Given the description of an element on the screen output the (x, y) to click on. 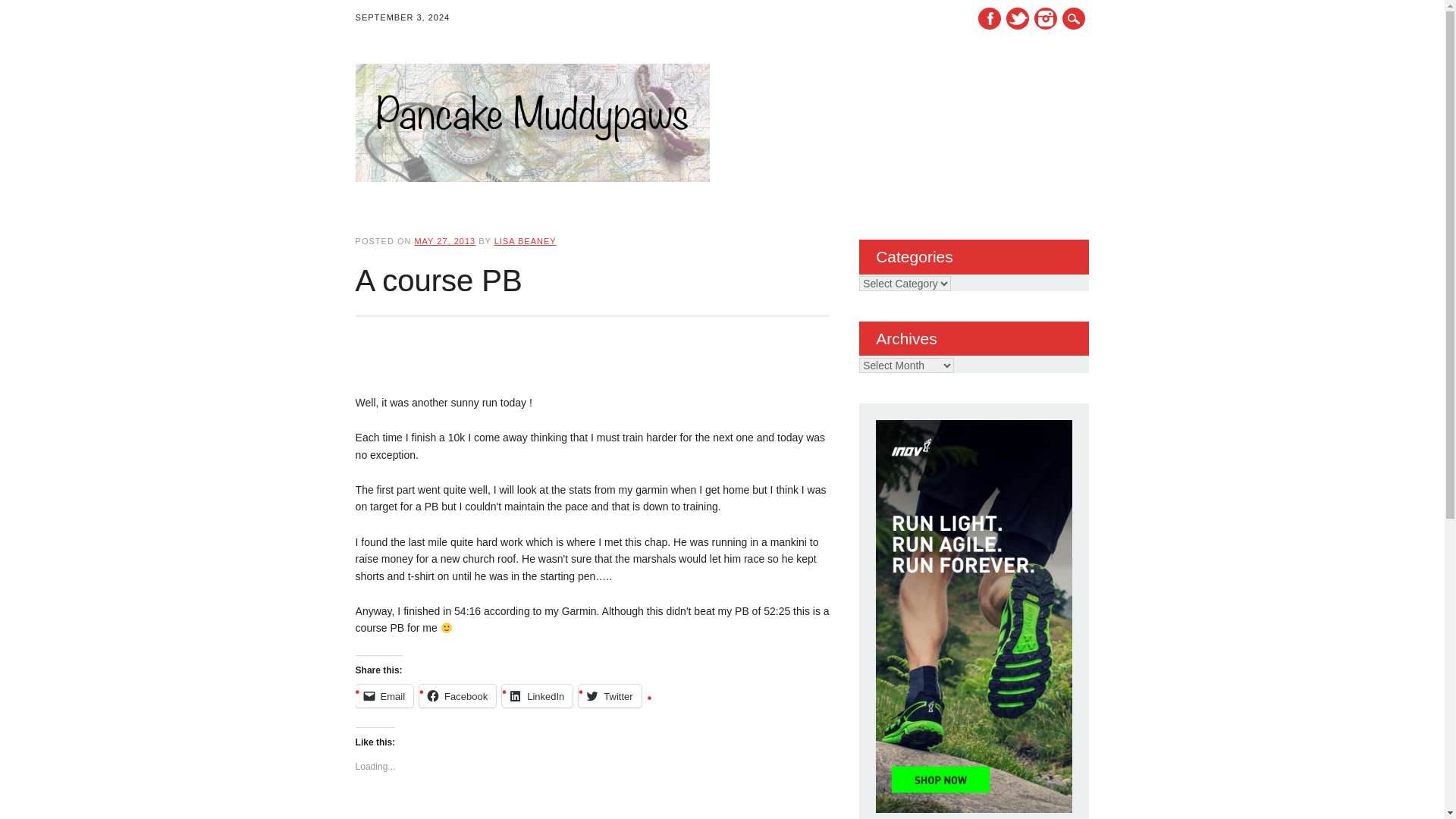
Facebook (457, 695)
Twitter (1017, 18)
Instagram (1045, 18)
LinkedIn (537, 695)
Click to share on LinkedIn (537, 695)
11:24 am (444, 240)
View all posts by Lisa Beaney (525, 240)
Email (384, 695)
Facebook (989, 18)
LISA BEANEY (525, 240)
